Given the description of an element on the screen output the (x, y) to click on. 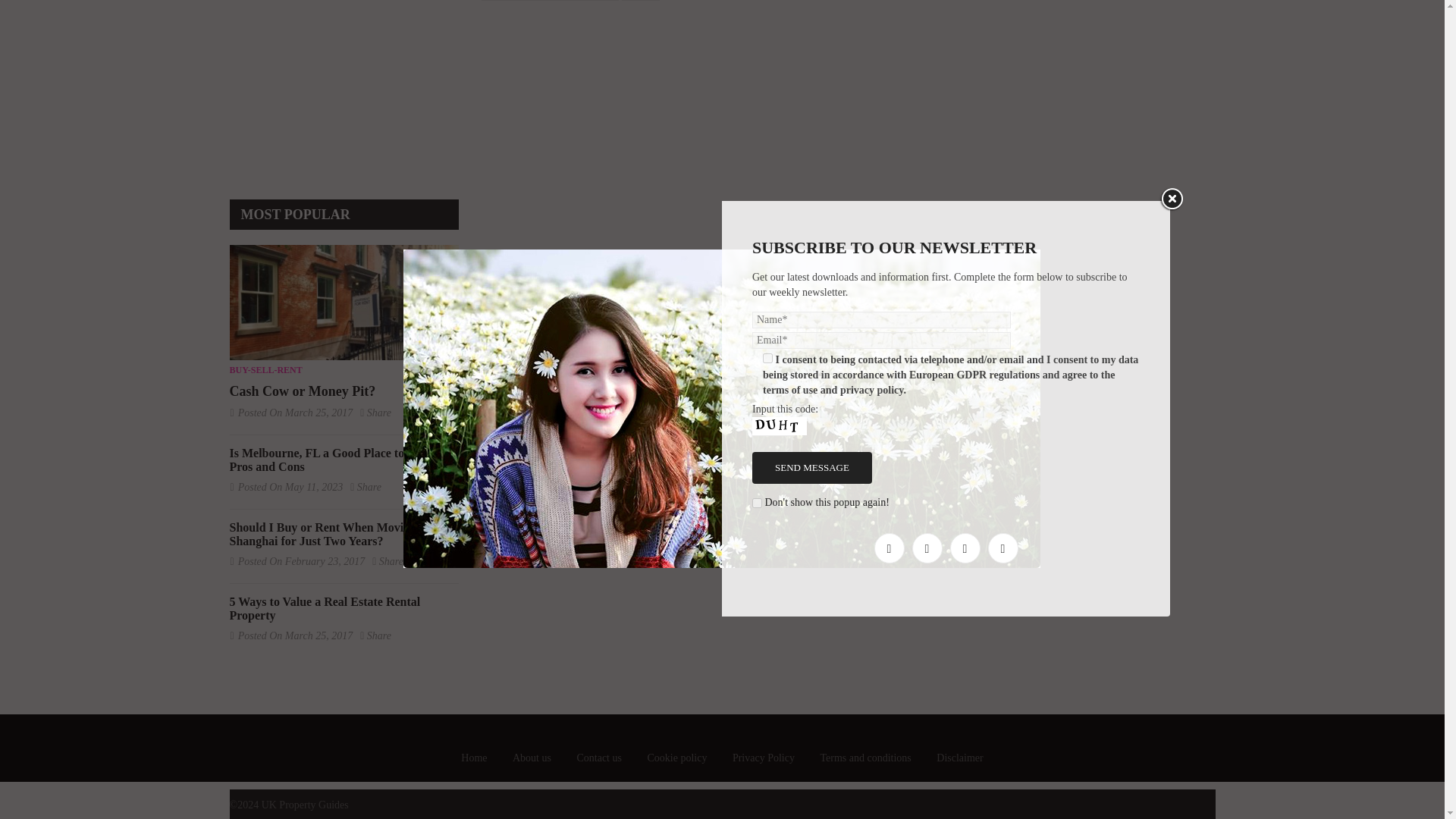
Twitter (926, 91)
Advertisement (355, 86)
Pinterest (1002, 91)
Send message (812, 13)
on (756, 45)
Facebook (888, 91)
